Given the description of an element on the screen output the (x, y) to click on. 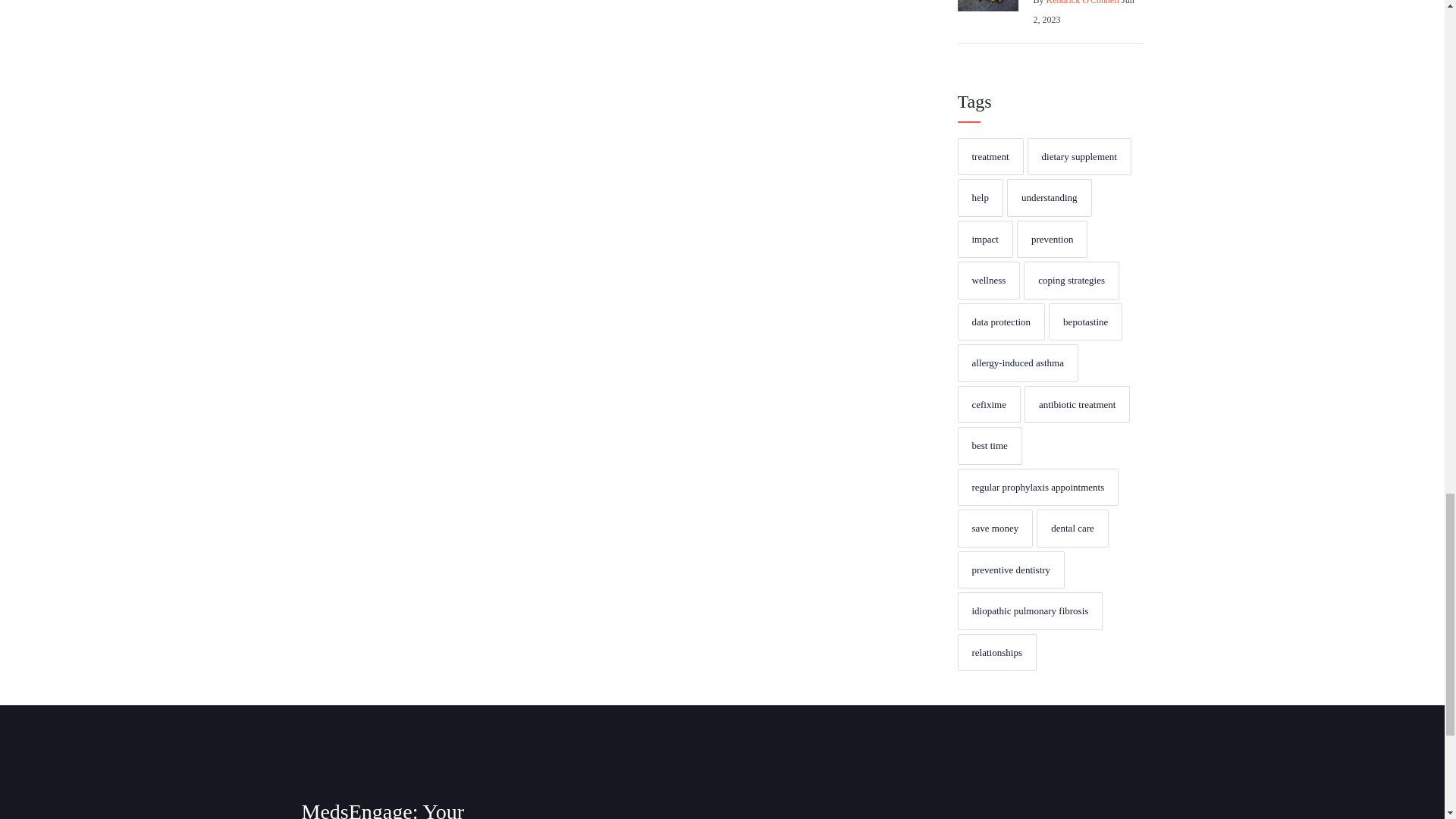
bepotastine (1085, 322)
cefixime (988, 404)
wellness (988, 280)
antibiotic treatment (1077, 404)
data protection (1000, 322)
treatment (989, 157)
help (979, 198)
impact (983, 239)
allergy-induced asthma (1016, 362)
dietary supplement (1079, 157)
coping strategies (1071, 280)
understanding (1049, 198)
prevention (1051, 239)
